Given the description of an element on the screen output the (x, y) to click on. 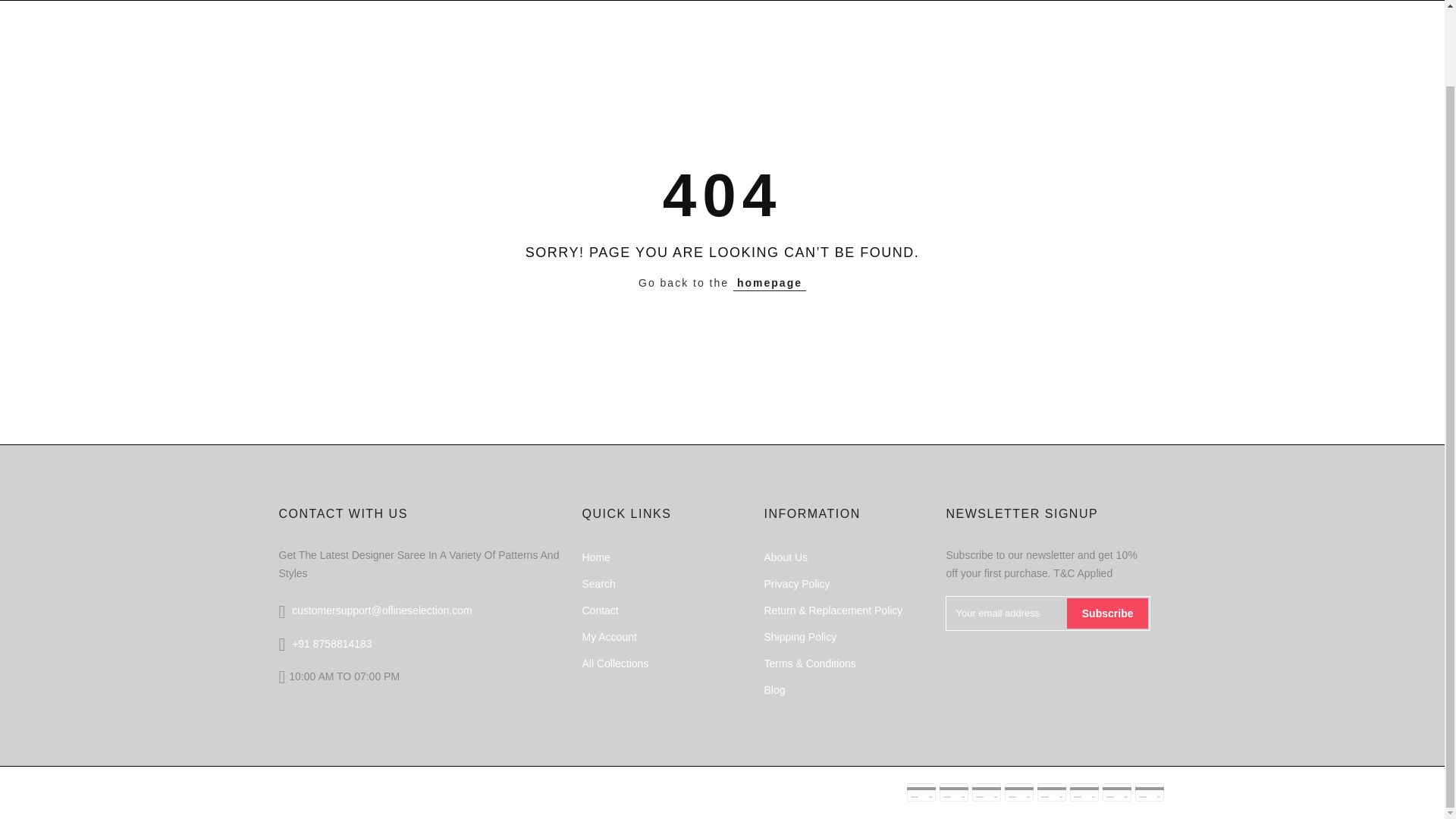
oflineselection All rights reserved. (443, 788)
About Us (785, 557)
Home (595, 557)
All Collections (613, 663)
Privacy Policy (795, 583)
My Account (608, 636)
Blog (773, 689)
Search (597, 583)
homepage (769, 283)
Shipping Policy (798, 636)
Contact (598, 610)
Subscribe (1107, 613)
